Given the description of an element on the screen output the (x, y) to click on. 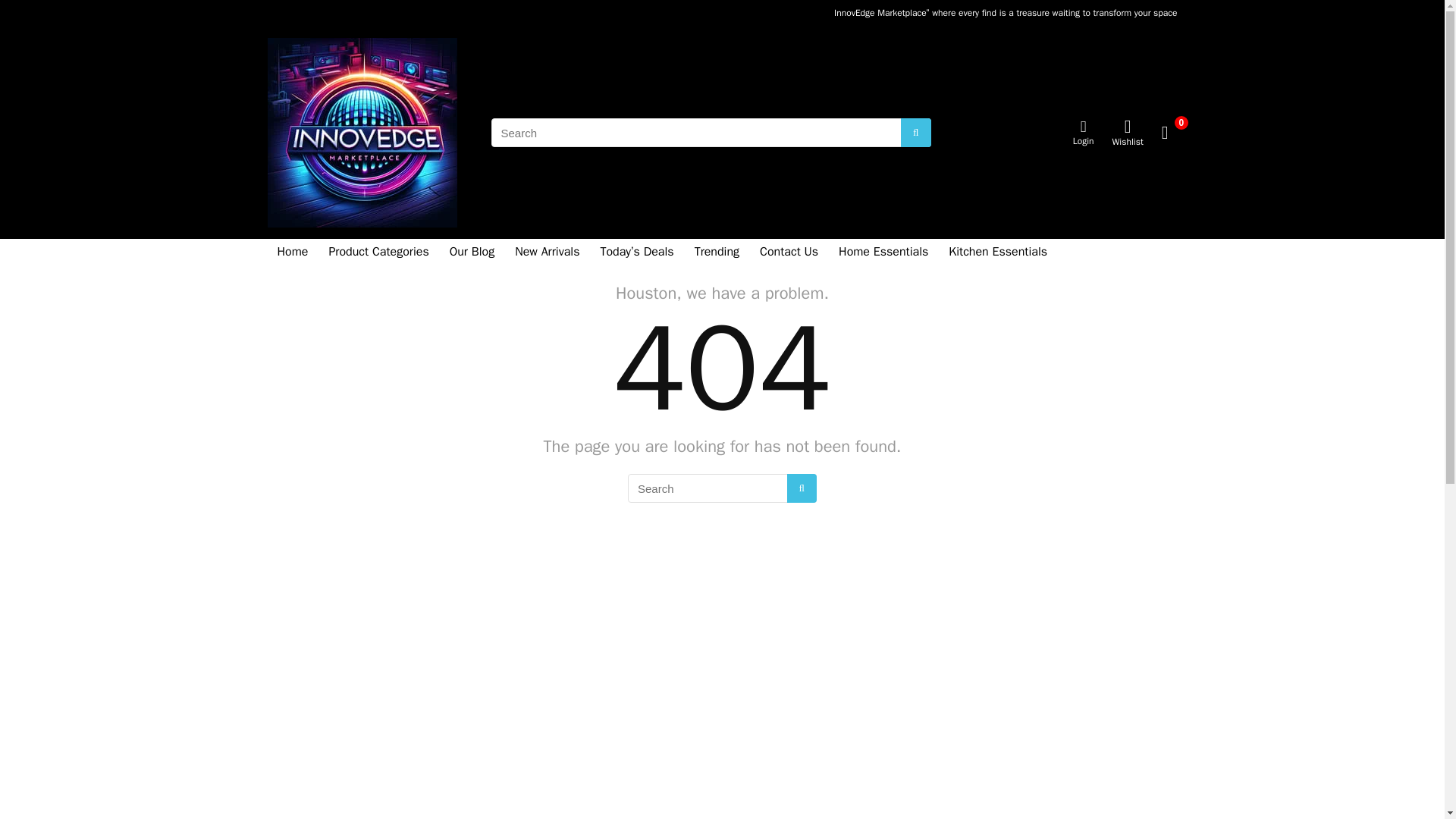
Home Essentials (882, 253)
Home (291, 253)
New Arrivals (547, 253)
Contact Us (788, 253)
Our Blog (471, 253)
Kitchen Essentials (998, 253)
Trending (716, 253)
Product Categories (378, 253)
